Given the description of an element on the screen output the (x, y) to click on. 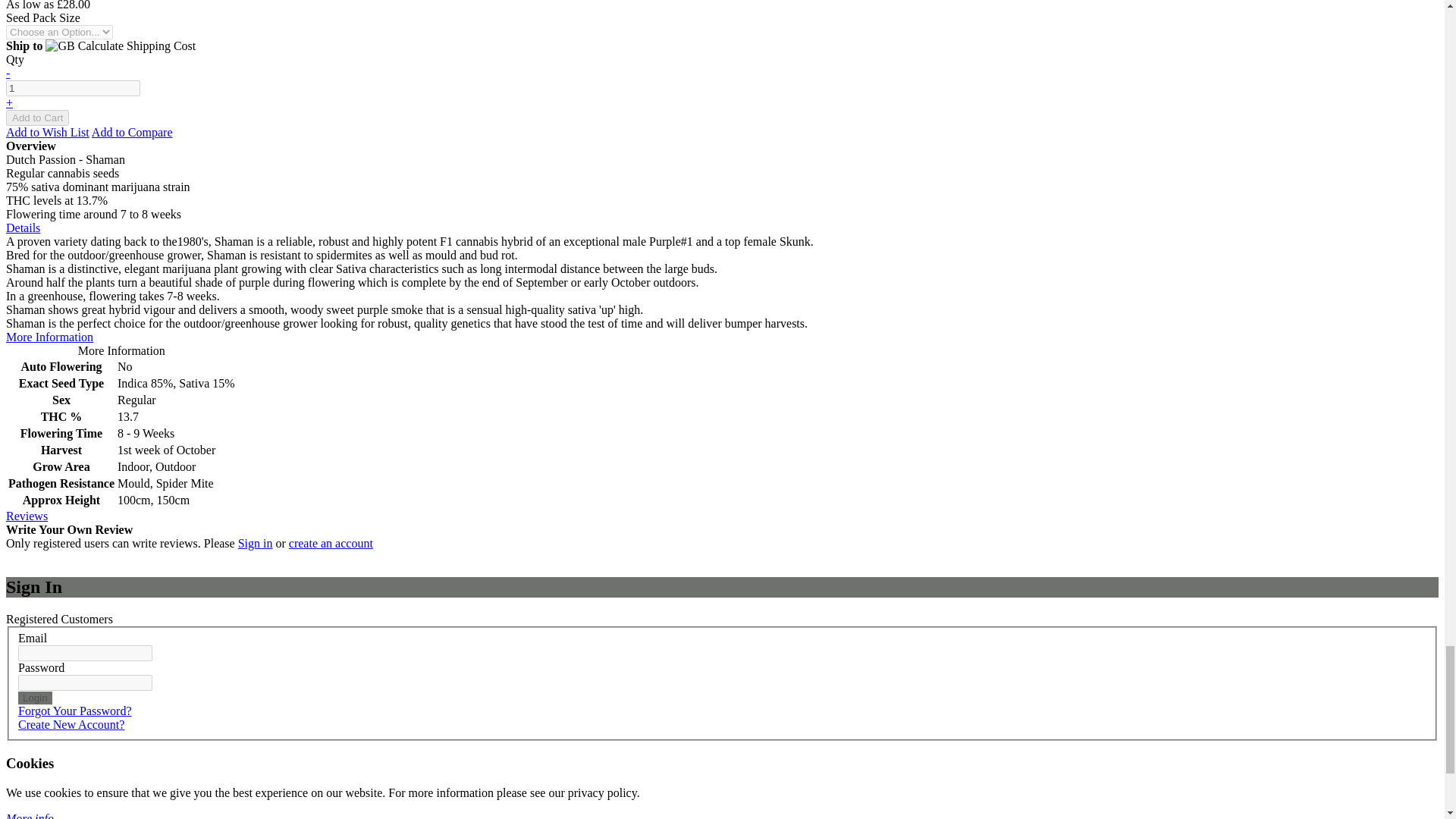
Qty (72, 88)
Password (84, 682)
1 (72, 88)
Add to Cart (36, 117)
Email (84, 652)
